Given the description of an element on the screen output the (x, y) to click on. 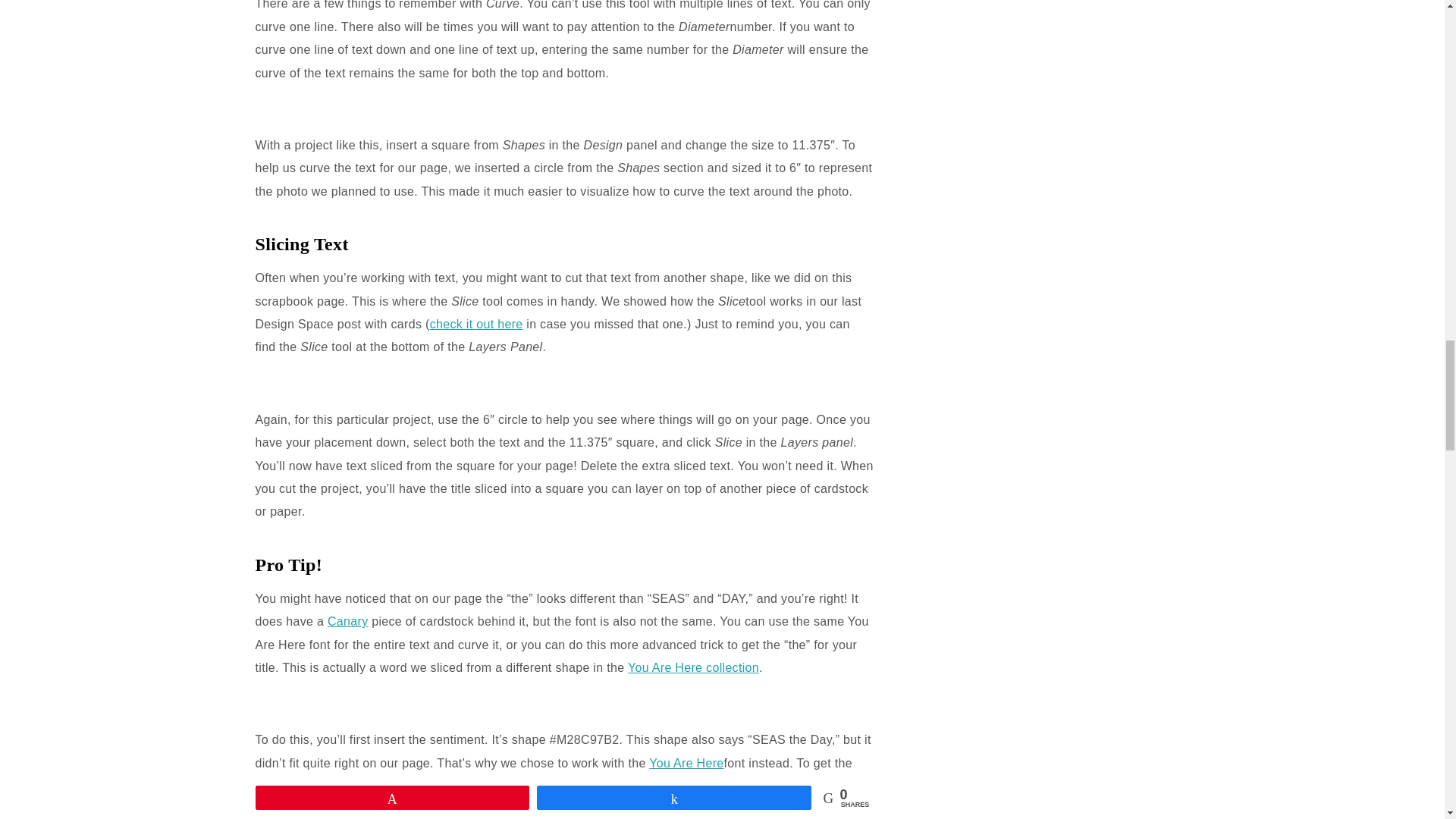
check it out here (475, 323)
Canary (347, 621)
You Are Here collection (692, 667)
You Are Here (686, 762)
